Given the description of an element on the screen output the (x, y) to click on. 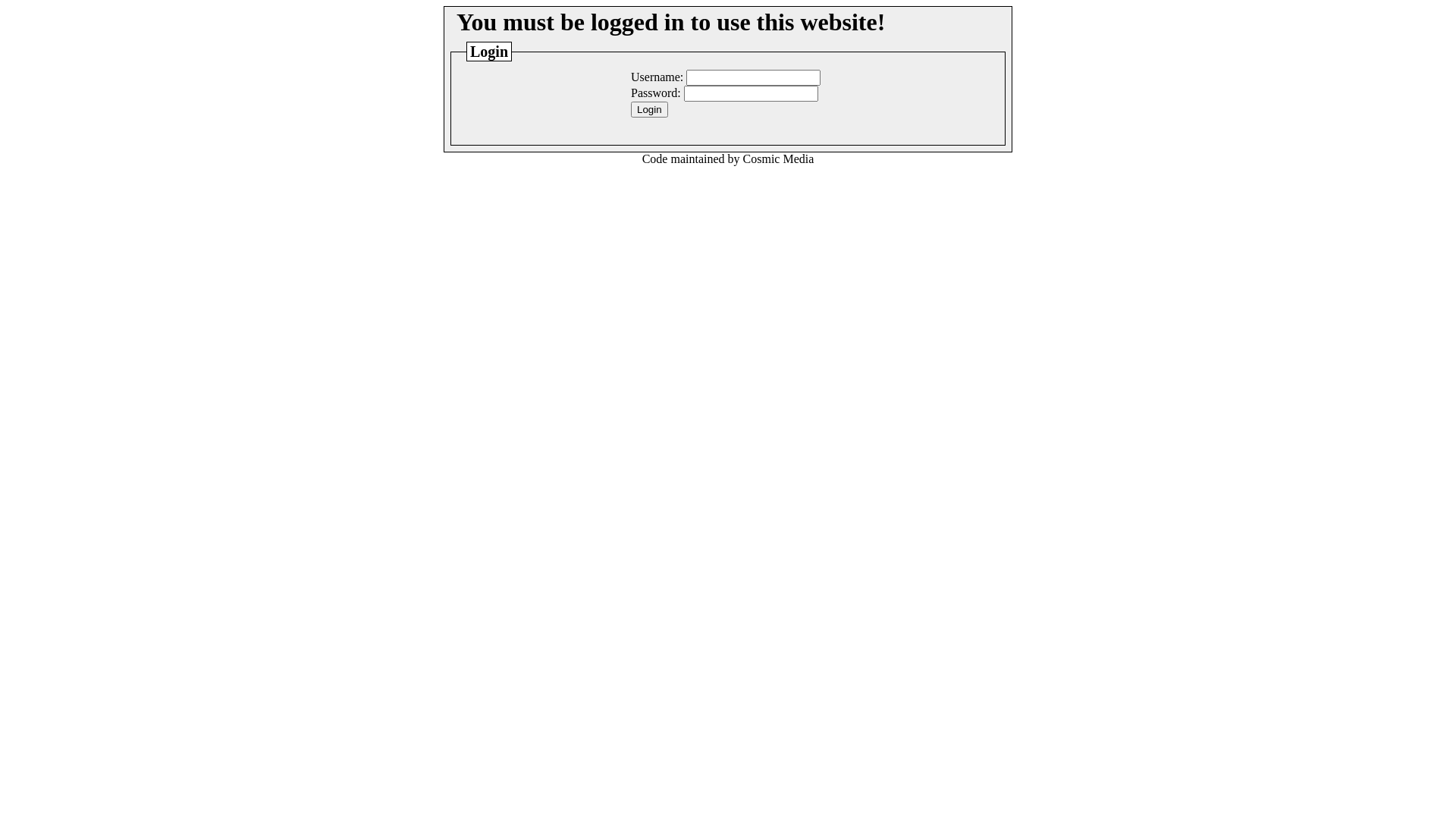
Login Element type: text (649, 109)
